Given the description of an element on the screen output the (x, y) to click on. 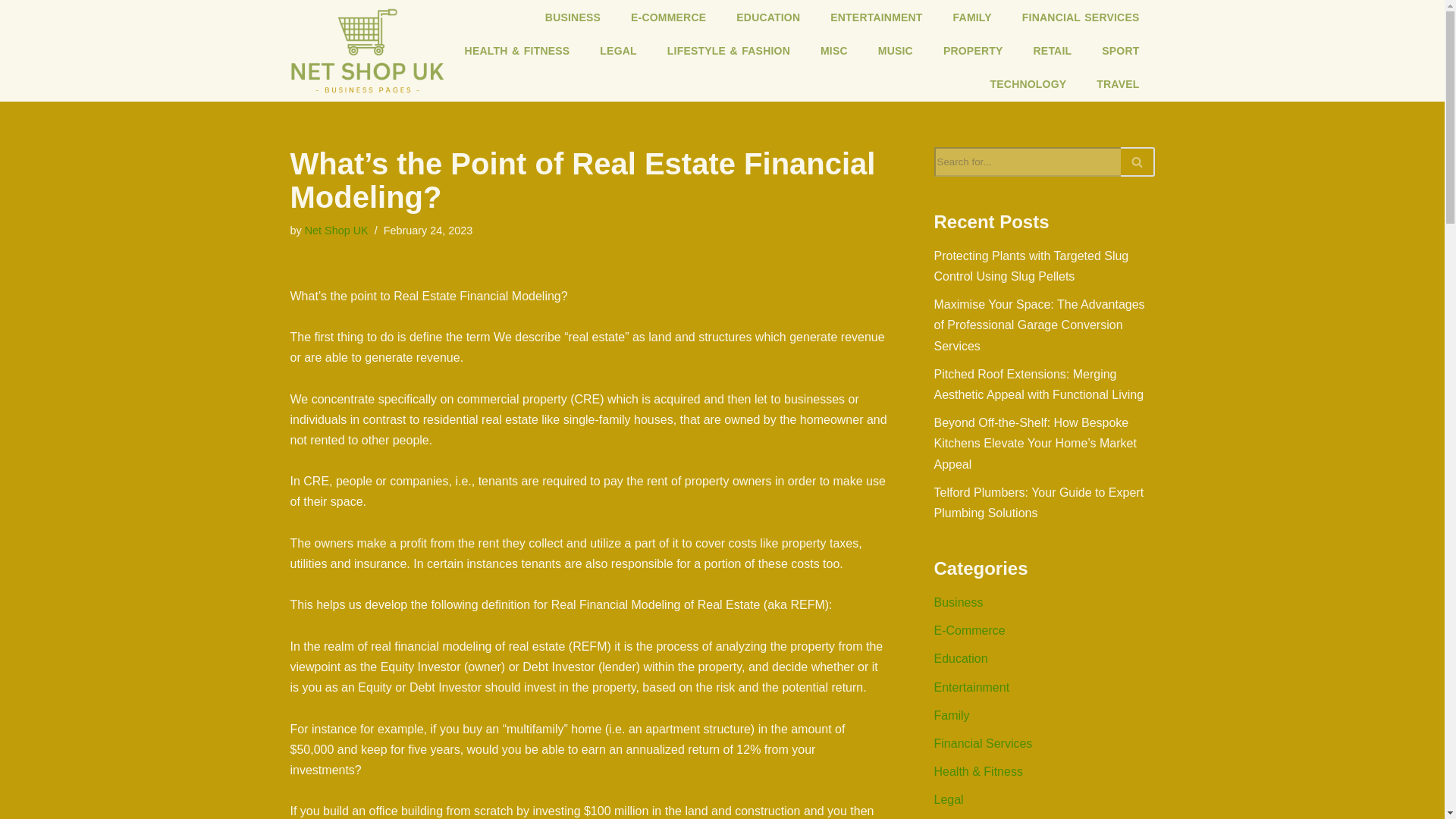
SPORT (1120, 50)
Net Shop UK (336, 230)
RETAIL (1052, 50)
PROPERTY (972, 50)
TRAVEL (1117, 83)
LEGAL (617, 50)
BUSINESS (572, 17)
Posts by Net Shop UK (336, 230)
ENTERTAINMENT (876, 17)
EDUCATION (767, 17)
FAMILY (972, 17)
MUSIC (895, 50)
Skip to content (11, 31)
